Given the description of an element on the screen output the (x, y) to click on. 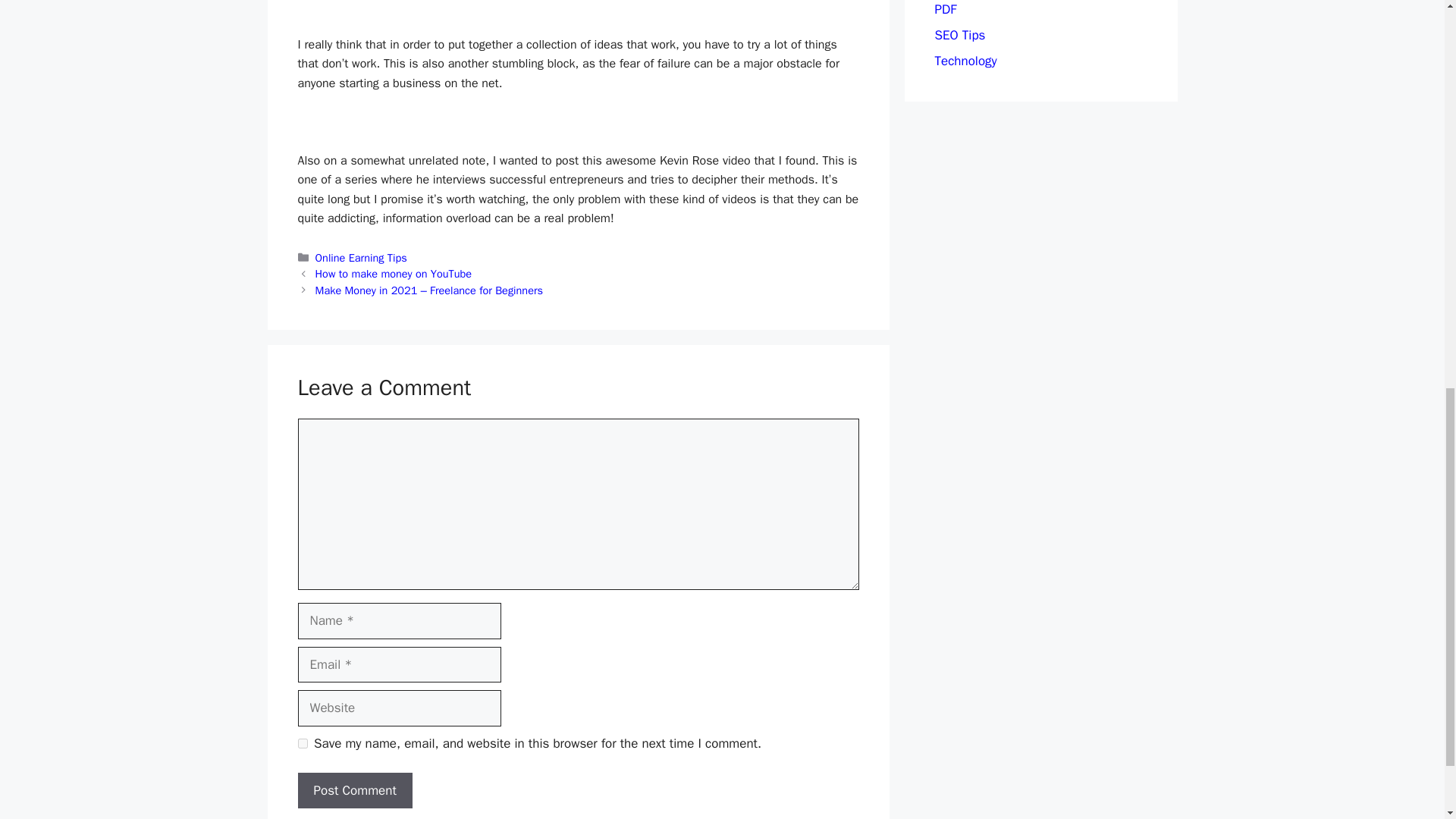
yes (302, 743)
Technology (964, 60)
Online Earning Tips (361, 257)
SEO Tips (959, 35)
Post Comment (354, 791)
Post Comment (354, 791)
PDF (945, 9)
How to make money on YouTube (393, 273)
